Given the description of an element on the screen output the (x, y) to click on. 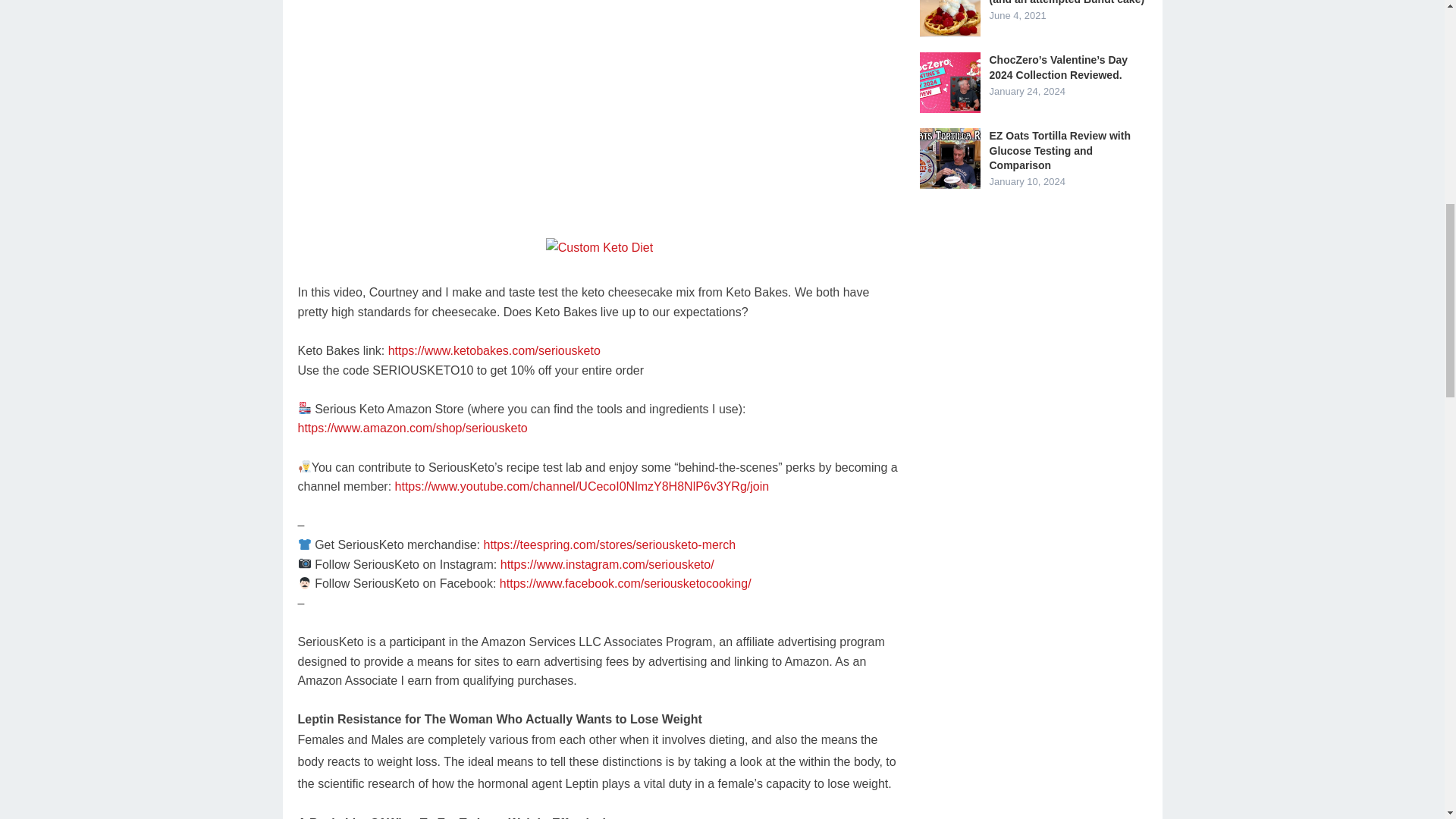
Keto Bakes Cheesecake Mix Review (599, 105)
